Given the description of an element on the screen output the (x, y) to click on. 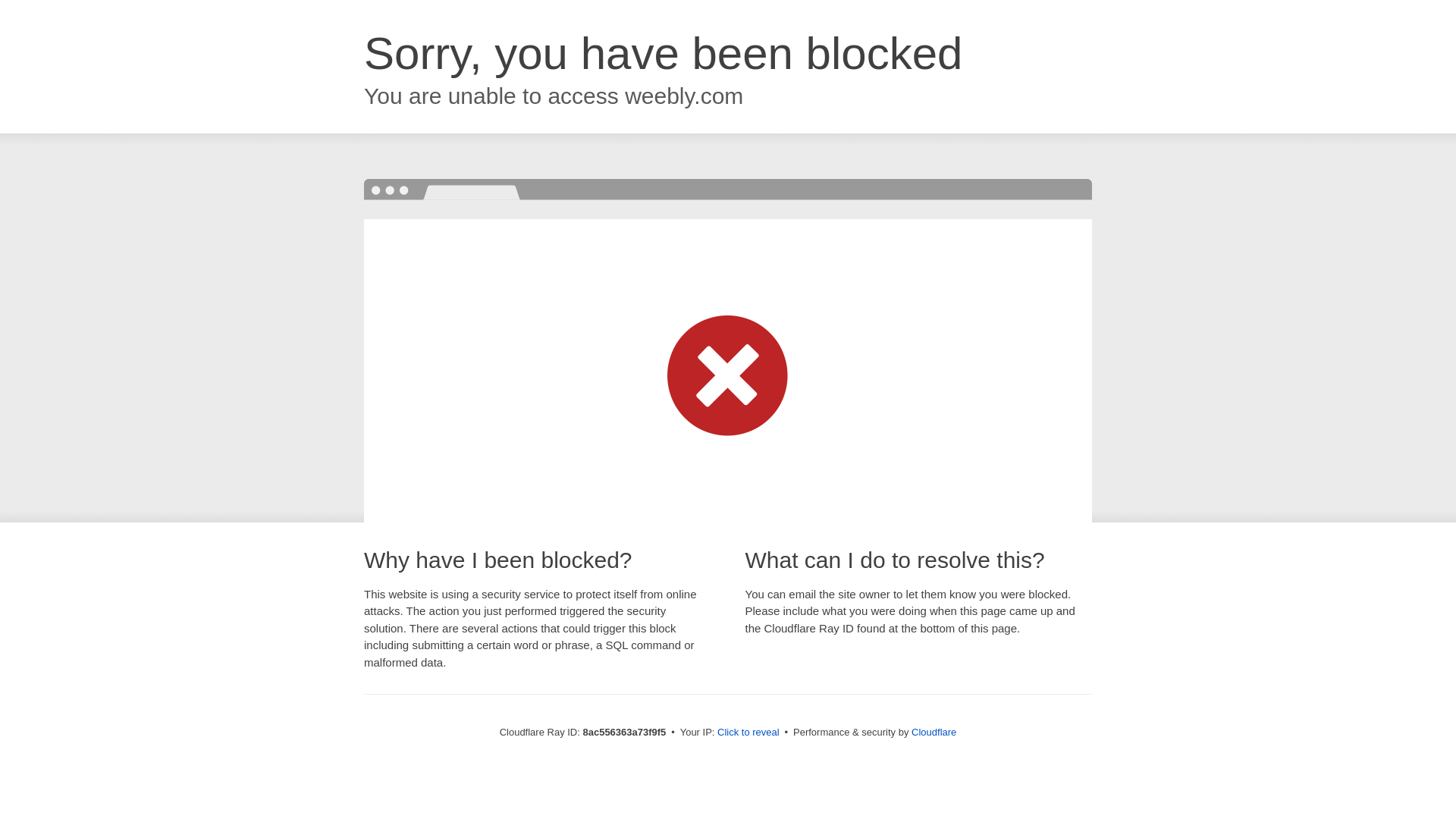
Click to reveal (751, 732)
Cloudflare (936, 731)
